Given the description of an element on the screen output the (x, y) to click on. 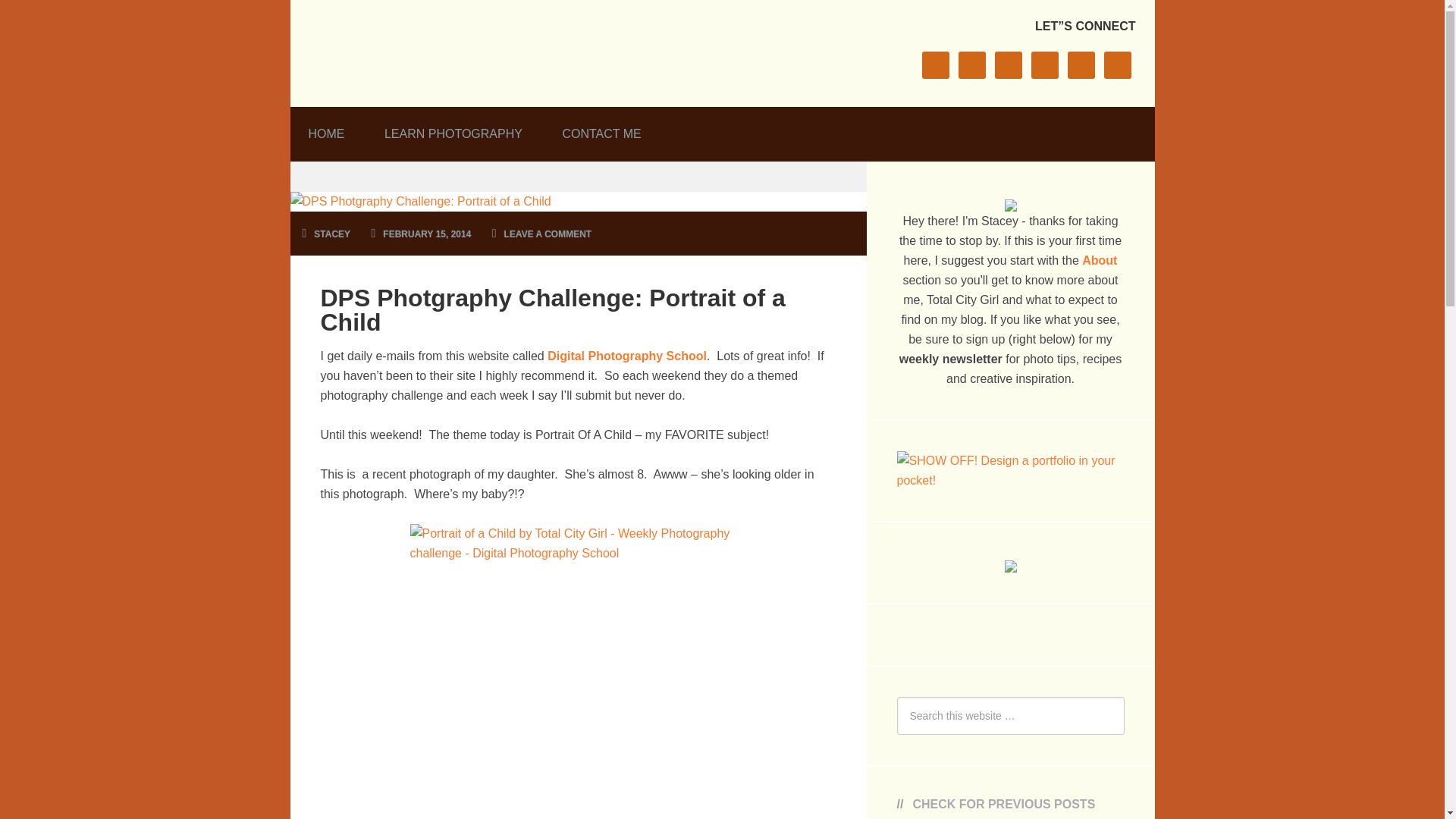
About (1098, 259)
CONTACT ME (601, 129)
TOTAL CITY GIRL - THE BLOG (432, 48)
LEARN PHOTOGRAPHY (453, 129)
STACEY (332, 234)
Digital Photography School (626, 355)
HOME (325, 129)
LEAVE A COMMENT (547, 234)
